Given the description of an element on the screen output the (x, y) to click on. 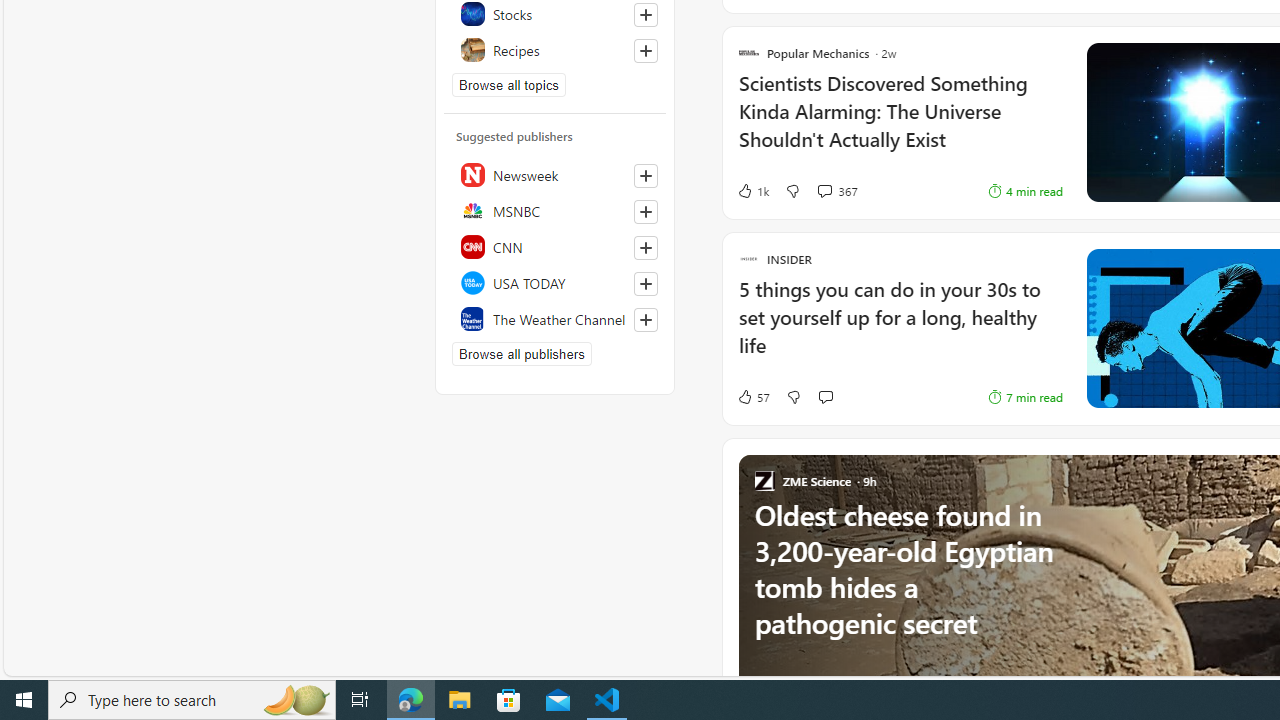
MSNBC (555, 210)
Browse all topics (509, 84)
The Weather Channel (555, 318)
Newsweek (555, 174)
